Given the description of an element on the screen output the (x, y) to click on. 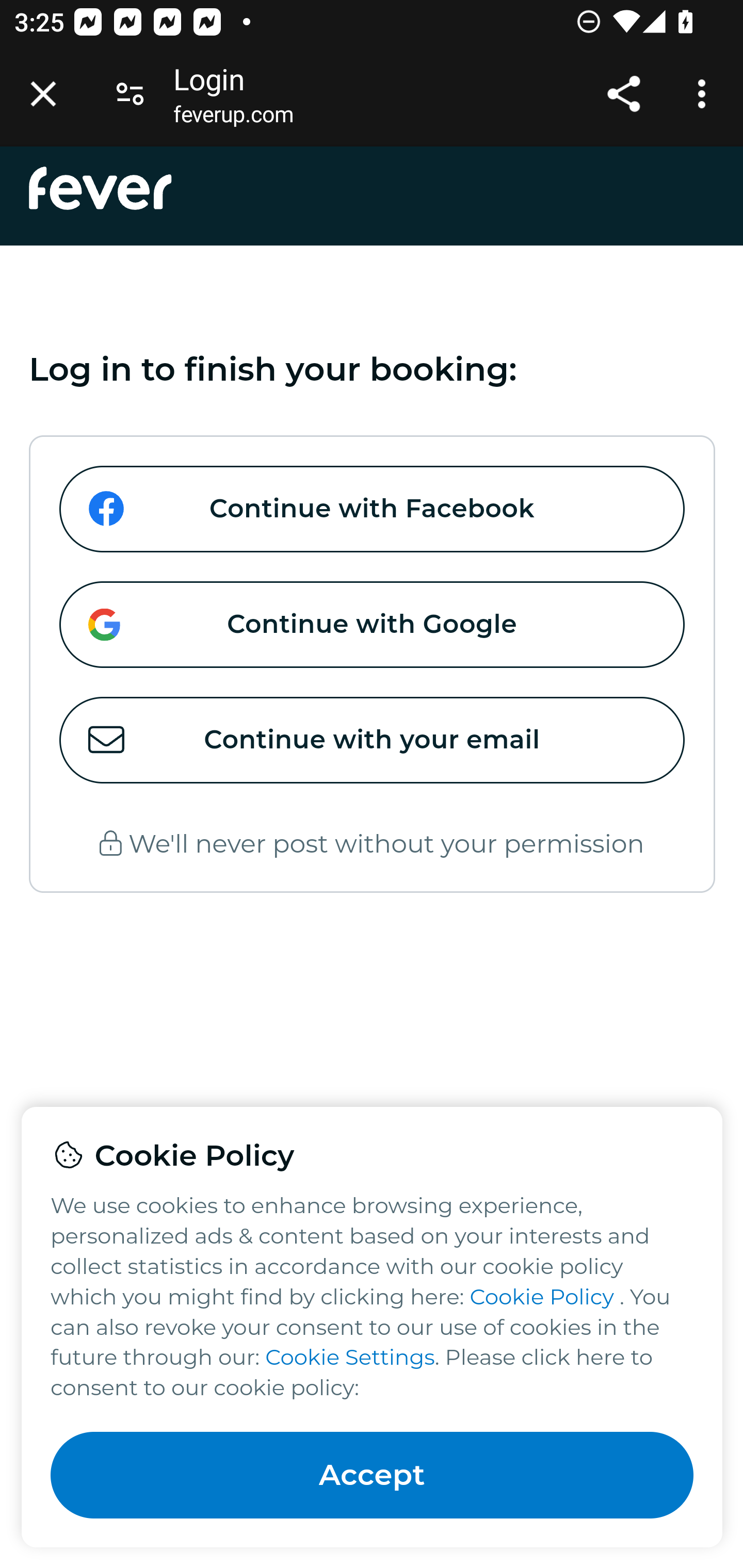
Close tab (43, 93)
Share link address (623, 93)
Customize and control Google Chrome (705, 93)
Connection is secure (129, 93)
feverup.com (233, 117)
en (100, 187)
Continue with Facebook (371, 509)
Continue with Google Continue with Google (371, 625)
Continue with your email (371, 740)
Cookie Policy (541, 1295)
Cookie Settings (348, 1357)
Accept (372, 1475)
